Given the description of an element on the screen output the (x, y) to click on. 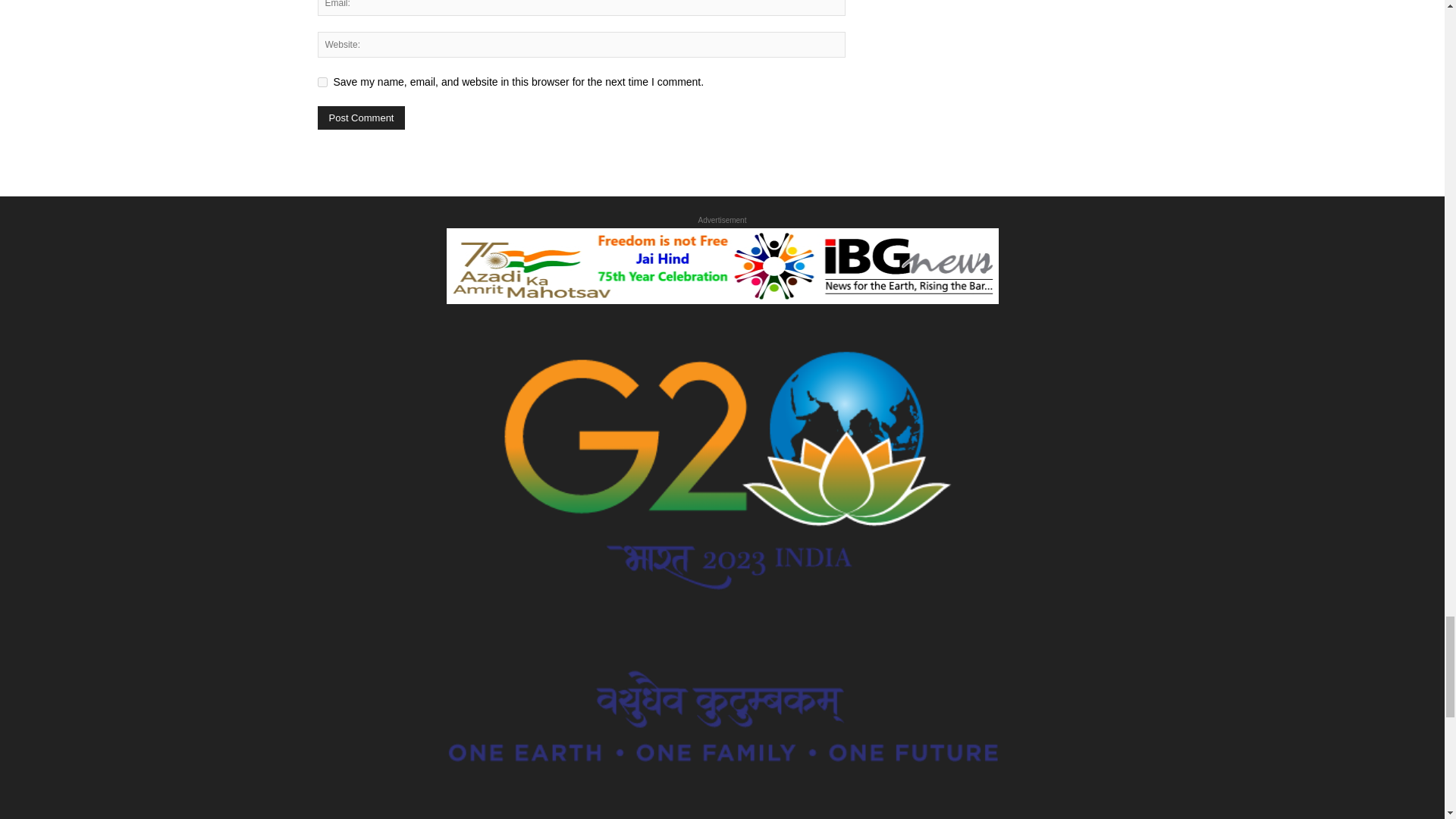
Post Comment (360, 117)
yes (321, 81)
